Given the description of an element on the screen output the (x, y) to click on. 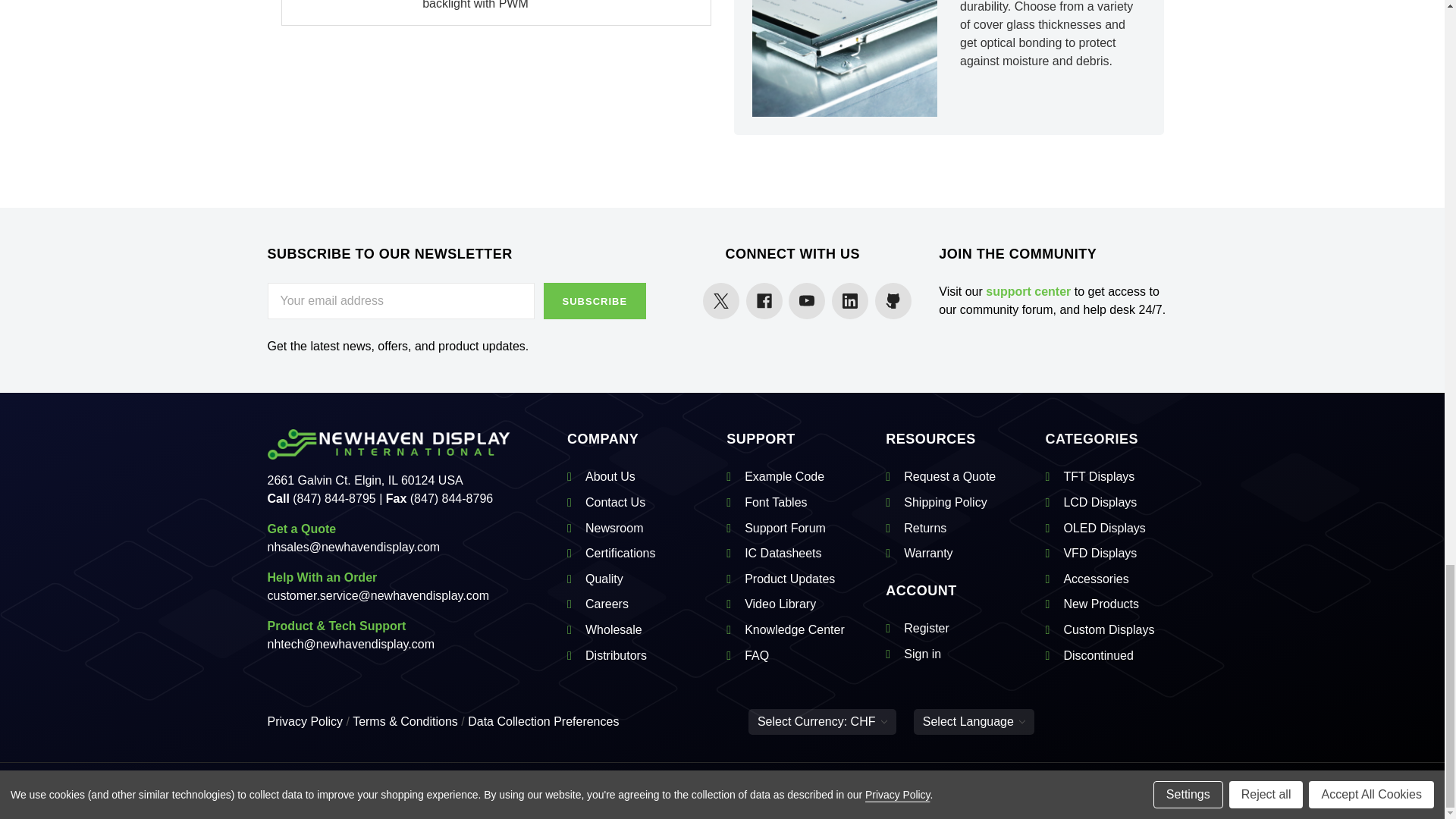
Newhaven  Display (387, 444)
Subscribe (594, 300)
